Given the description of an element on the screen output the (x, y) to click on. 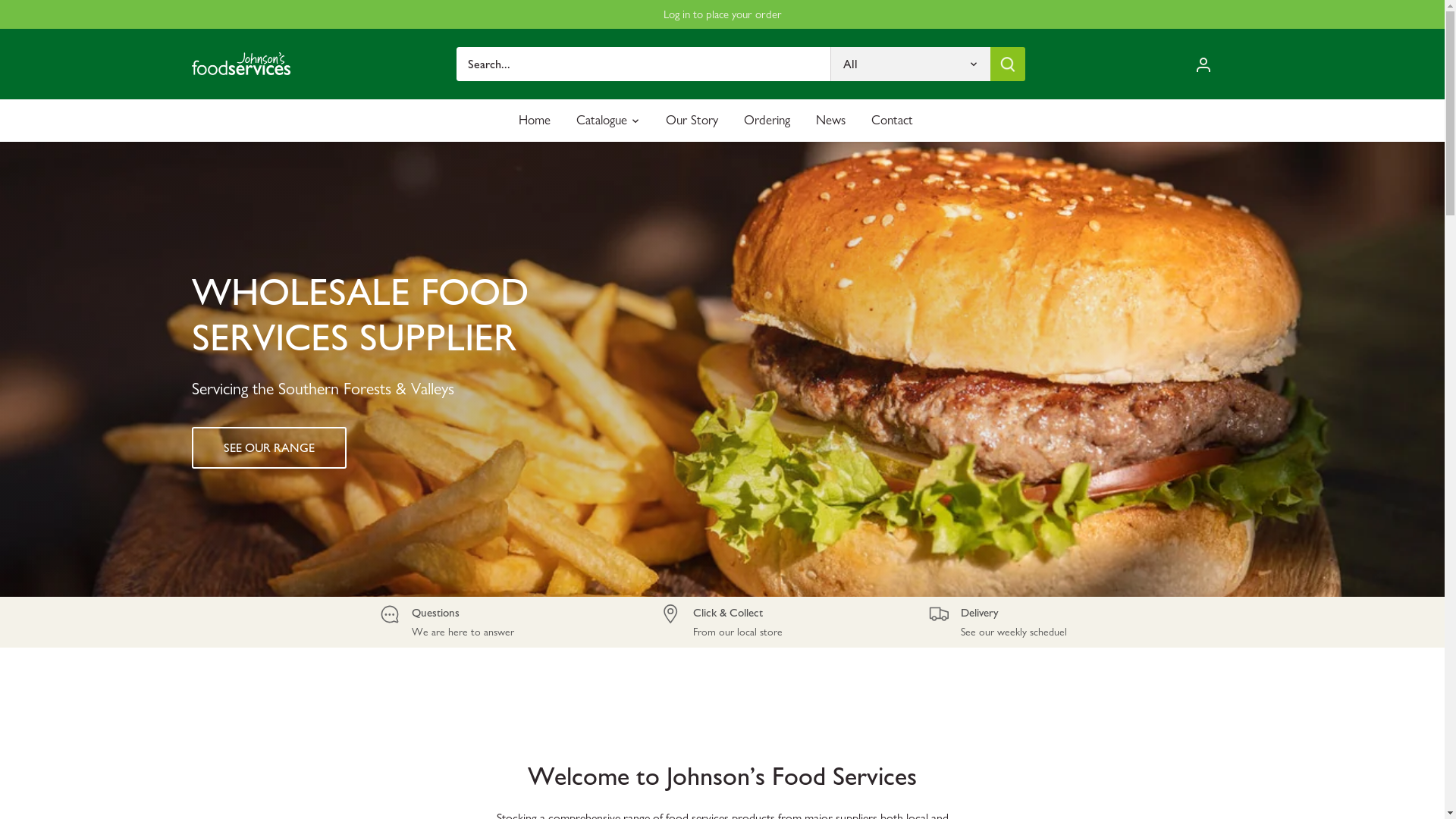
SEE OUR RANGE Element type: text (268, 447)
Catalogue Element type: text (601, 120)
Ordering Element type: text (767, 120)
Home Element type: text (540, 120)
News Element type: text (830, 120)
Contact Element type: text (891, 120)
Our Story Element type: text (691, 120)
